Given the description of an element on the screen output the (x, y) to click on. 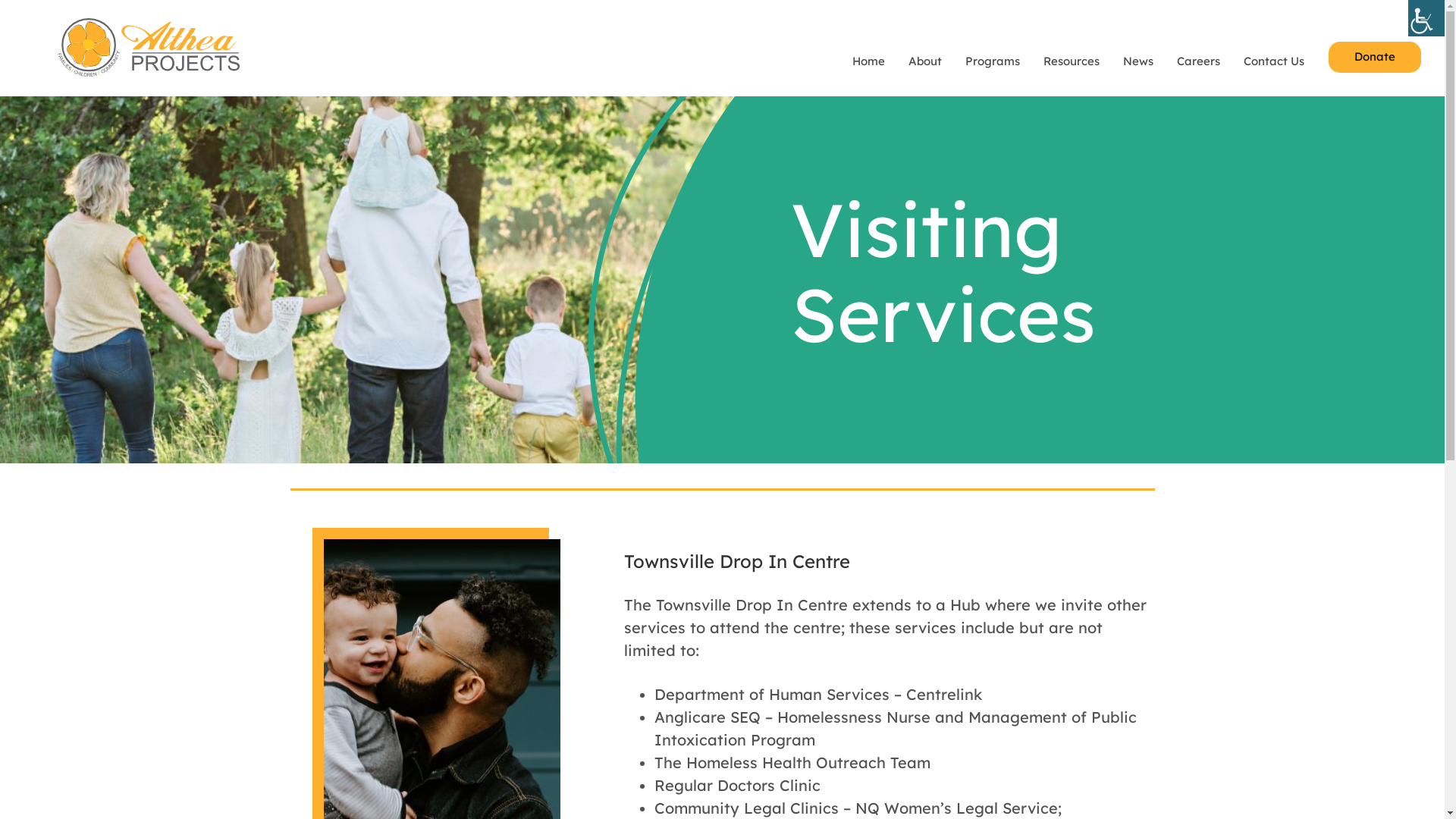
About Element type: text (924, 61)
News Element type: text (1138, 61)
Resources Element type: text (1071, 61)
Careers Element type: text (1198, 61)
Accessibility Helper sidebar Element type: hover (1426, 18)
Programs Element type: text (992, 61)
Donate Element type: text (1374, 56)
Home Element type: text (868, 61)
Contact Us Element type: text (1273, 61)
